Given the description of an element on the screen output the (x, y) to click on. 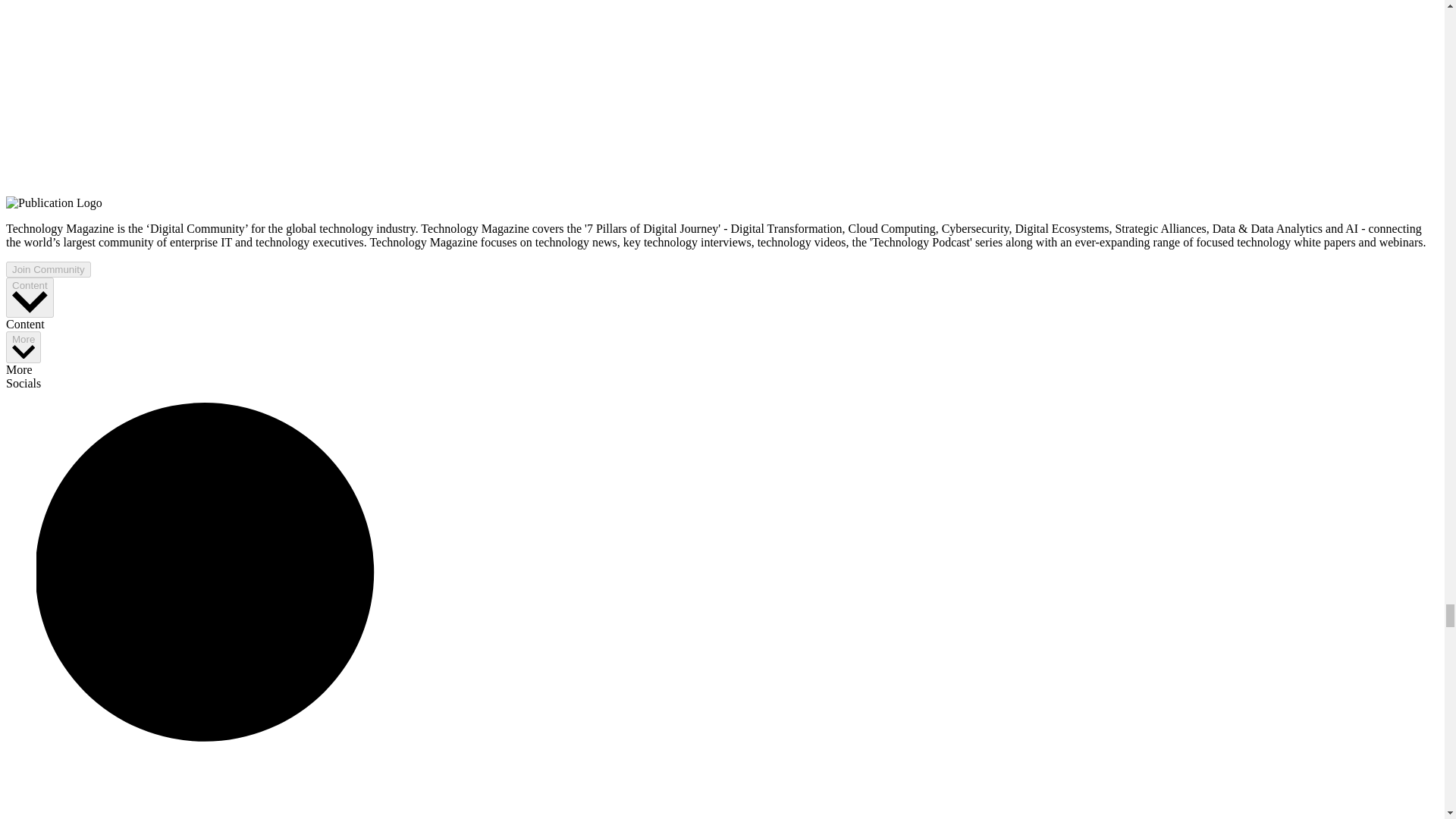
More (22, 347)
Join Community (47, 269)
Content (29, 297)
